Given the description of an element on the screen output the (x, y) to click on. 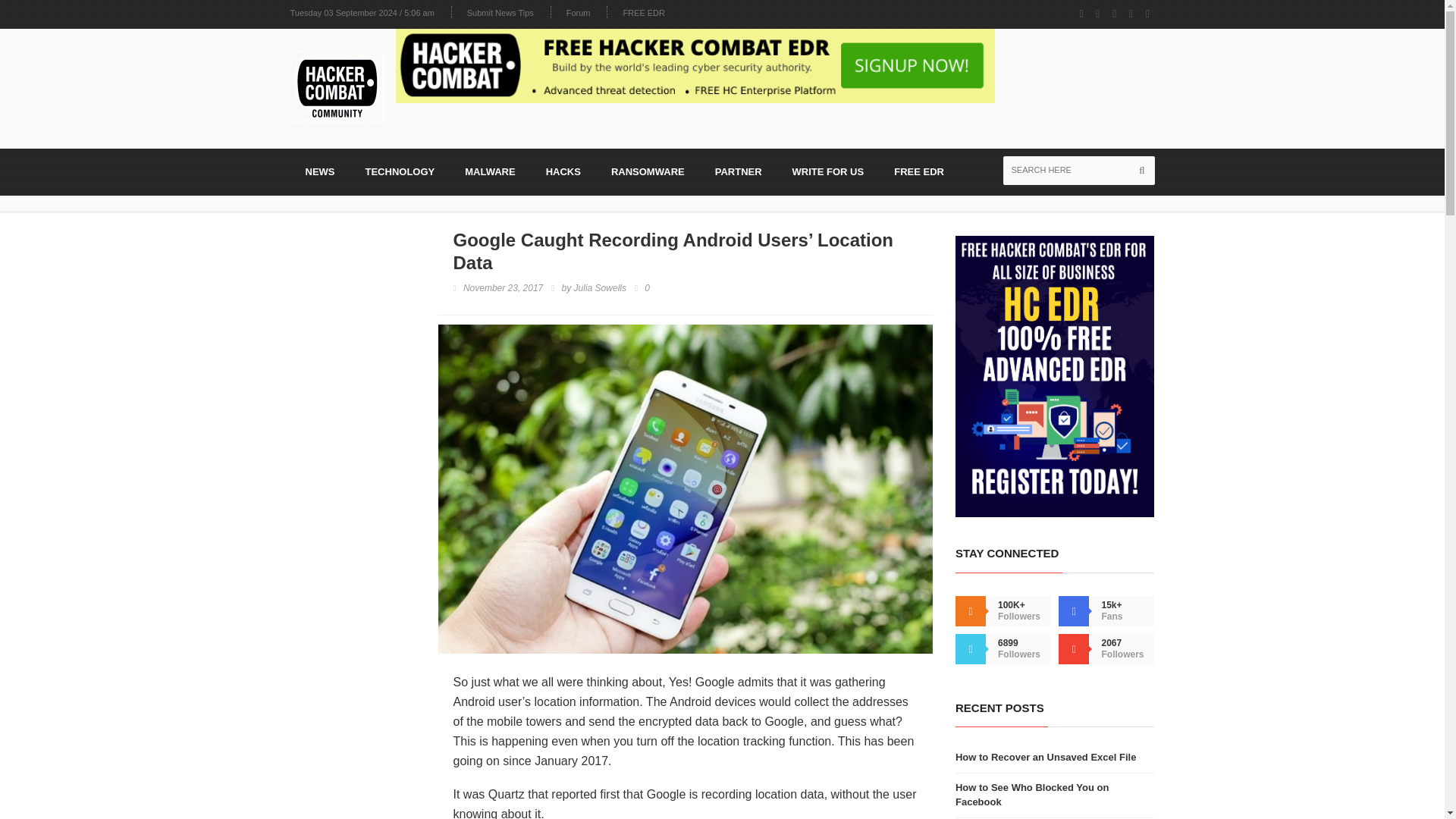
Julia Sowells (599, 287)
TECHNOLOGY (399, 171)
HACKS (563, 171)
Malware (489, 171)
NEWS (319, 171)
FREE EDR (919, 171)
Write For Us (828, 171)
Posts by Julia Sowells (599, 287)
Forum (578, 12)
RANSOMWARE (647, 171)
